Given the description of an element on the screen output the (x, y) to click on. 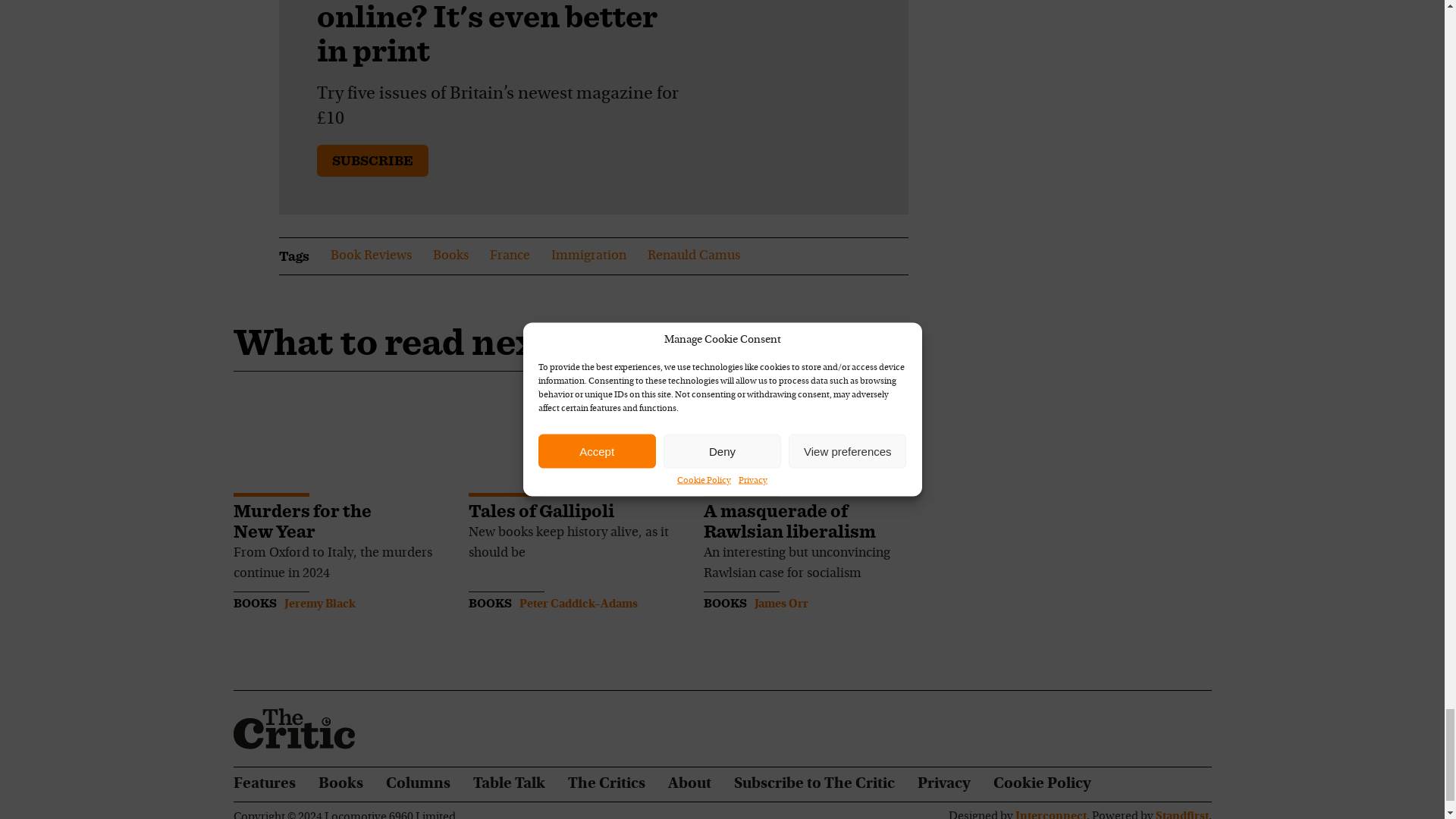
Posts by James Orr (781, 604)
Posts by Jeremy Black (319, 604)
